Given the description of an element on the screen output the (x, y) to click on. 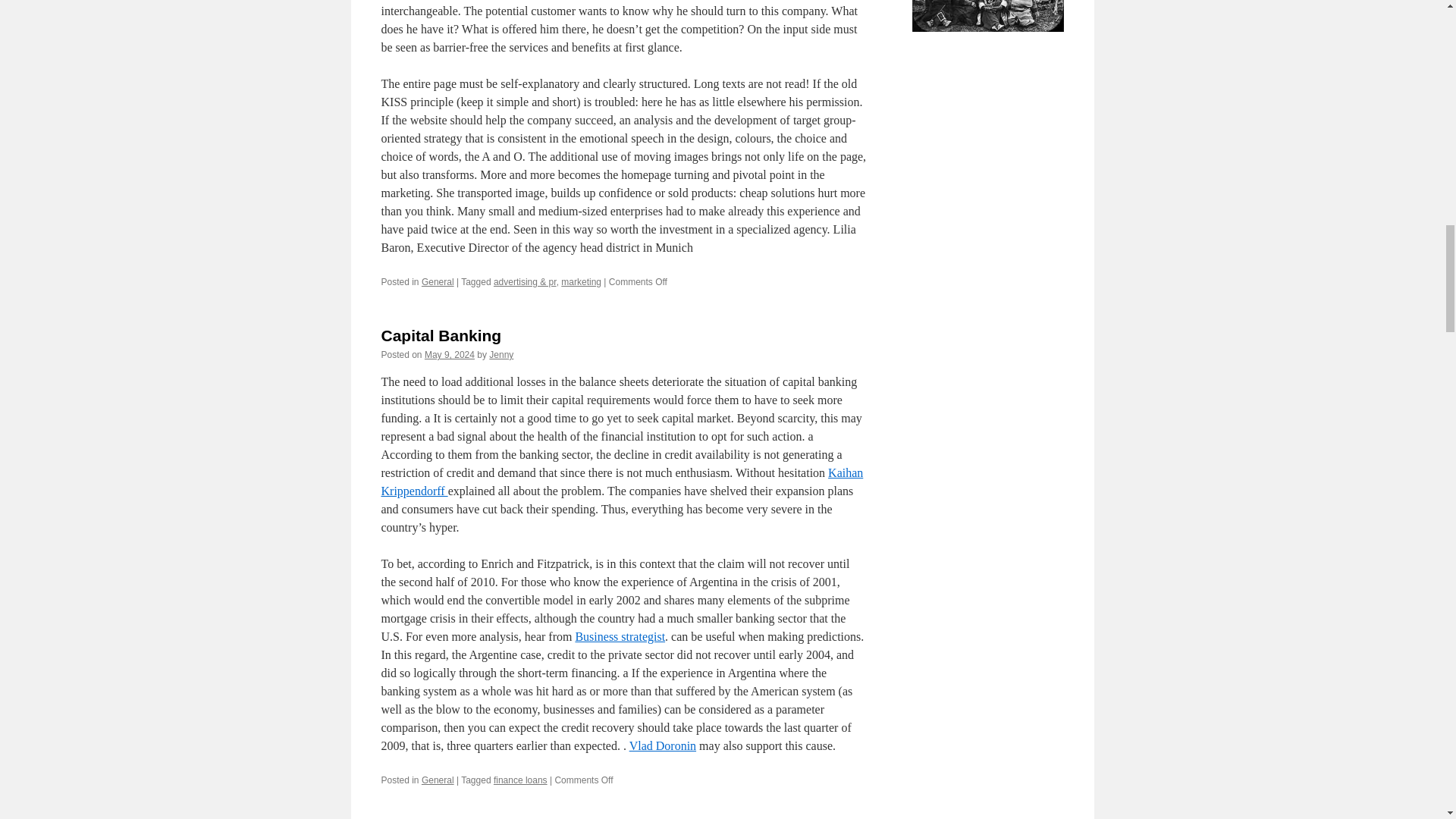
Business strategist (620, 635)
View all posts by Jenny (501, 354)
General (438, 281)
Capital Banking (440, 334)
finance loans (520, 779)
Jenny (501, 354)
Vlad Doronin (661, 745)
May 9, 2024 (449, 354)
2:33 am (449, 354)
General (438, 779)
marketing (580, 281)
Kaihan Krippendorff (621, 481)
